Given the description of an element on the screen output the (x, y) to click on. 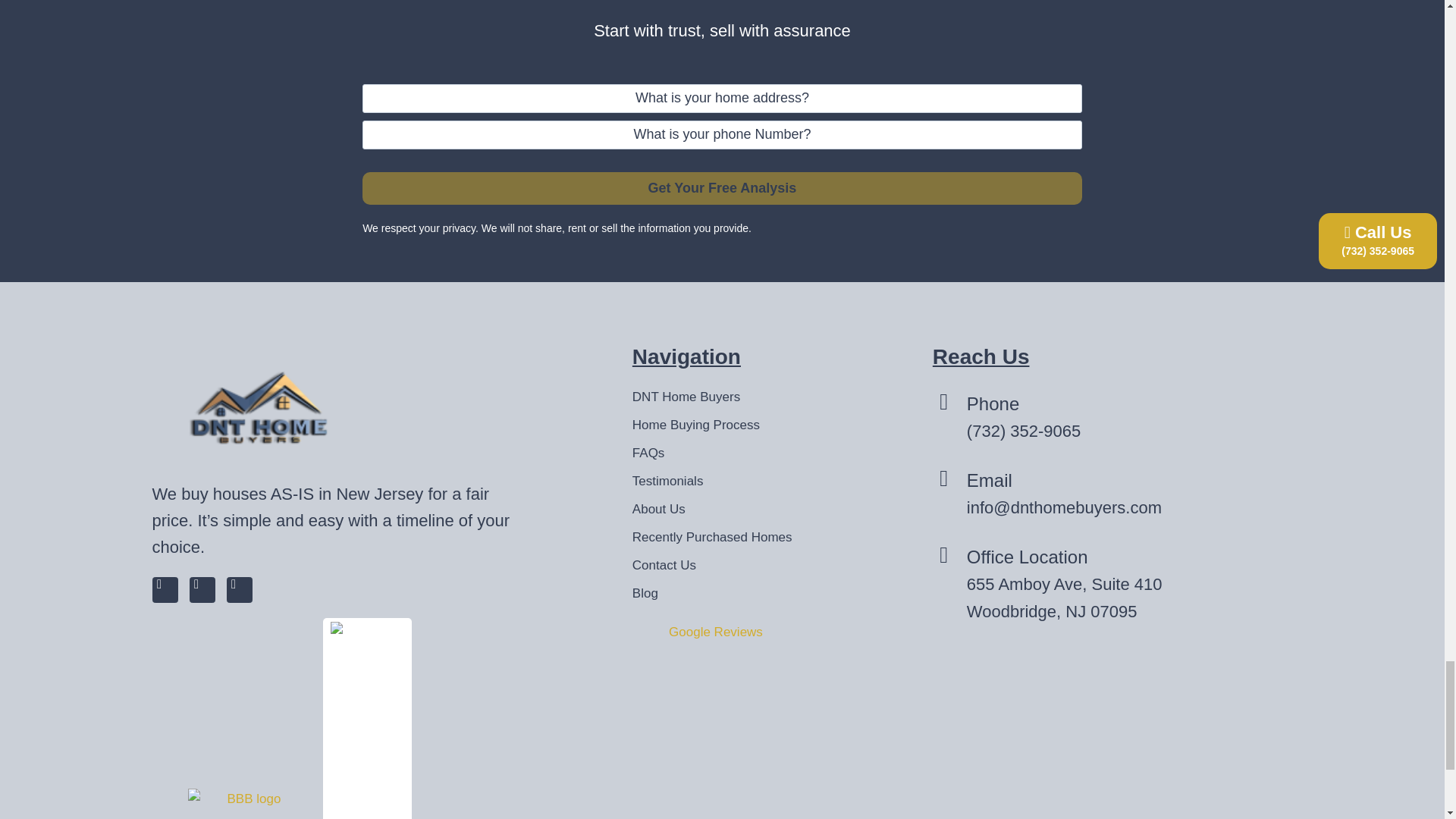
Get Your Free Analysis (721, 187)
